Given the description of an element on the screen output the (x, y) to click on. 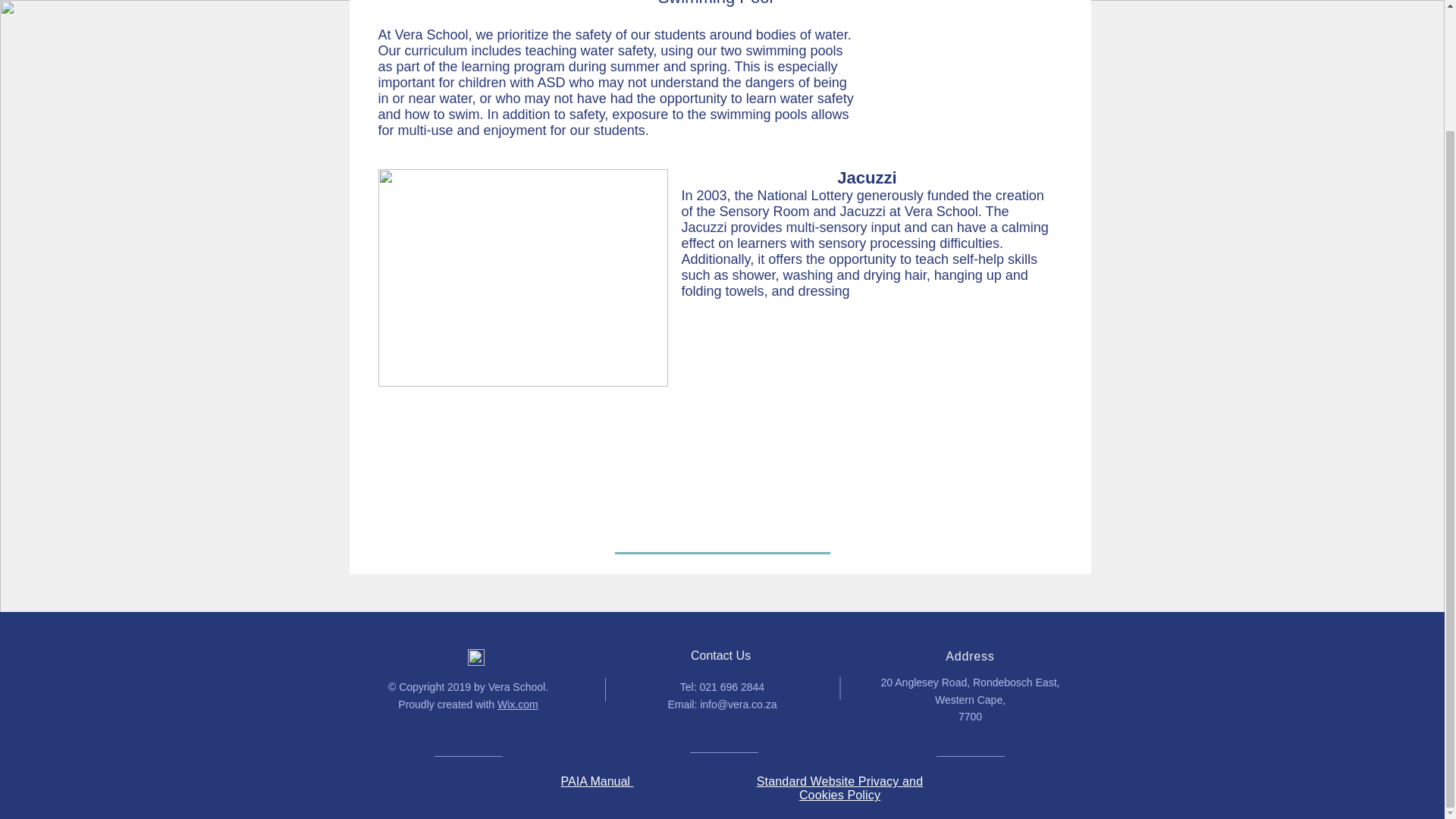
PAIA Manual  (596, 780)
Wix.com (517, 704)
Standard Website Privacy and Cookies Policy (840, 787)
